Given the description of an element on the screen output the (x, y) to click on. 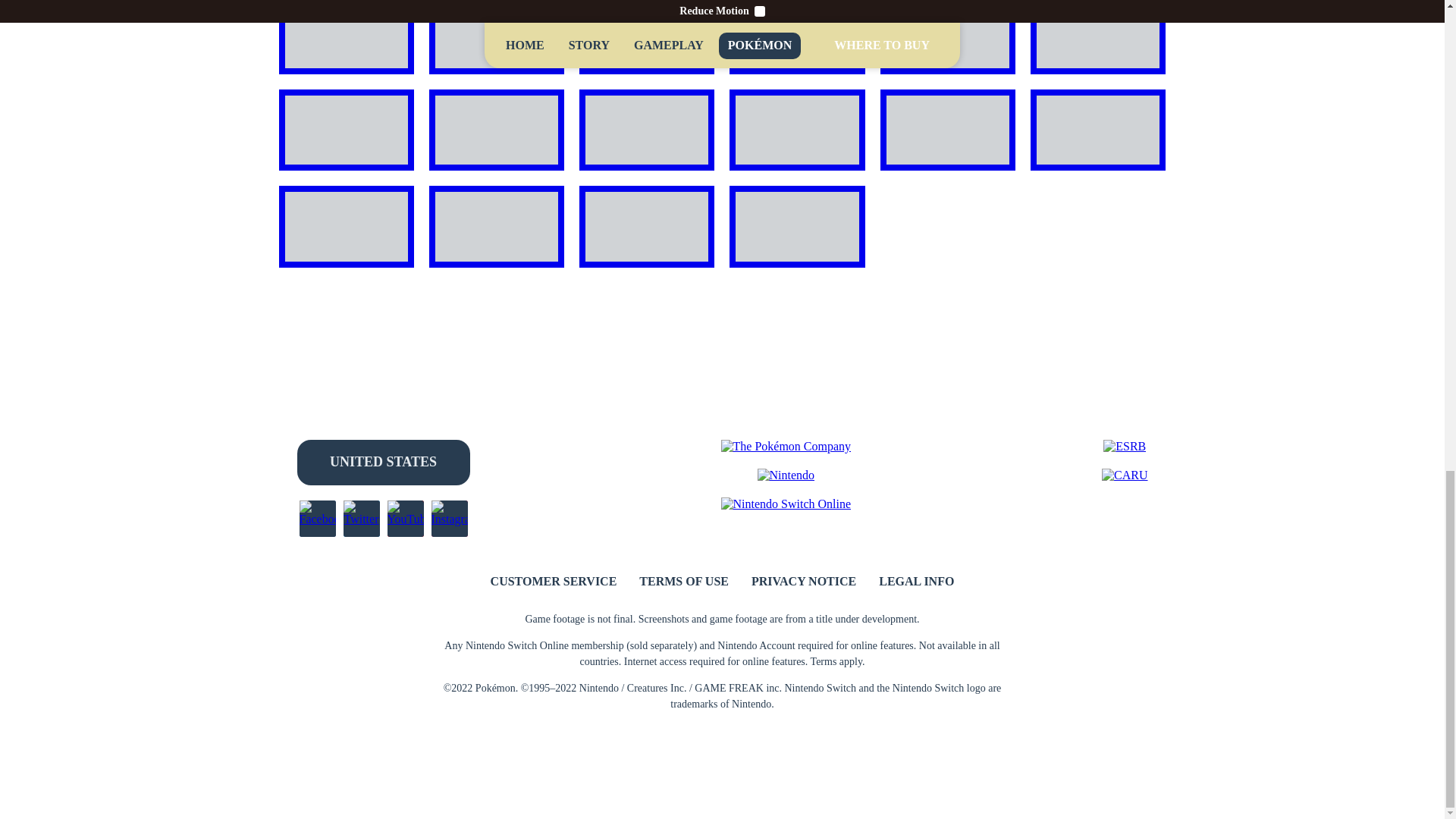
UNITED STATES (383, 462)
